Given the description of an element on the screen output the (x, y) to click on. 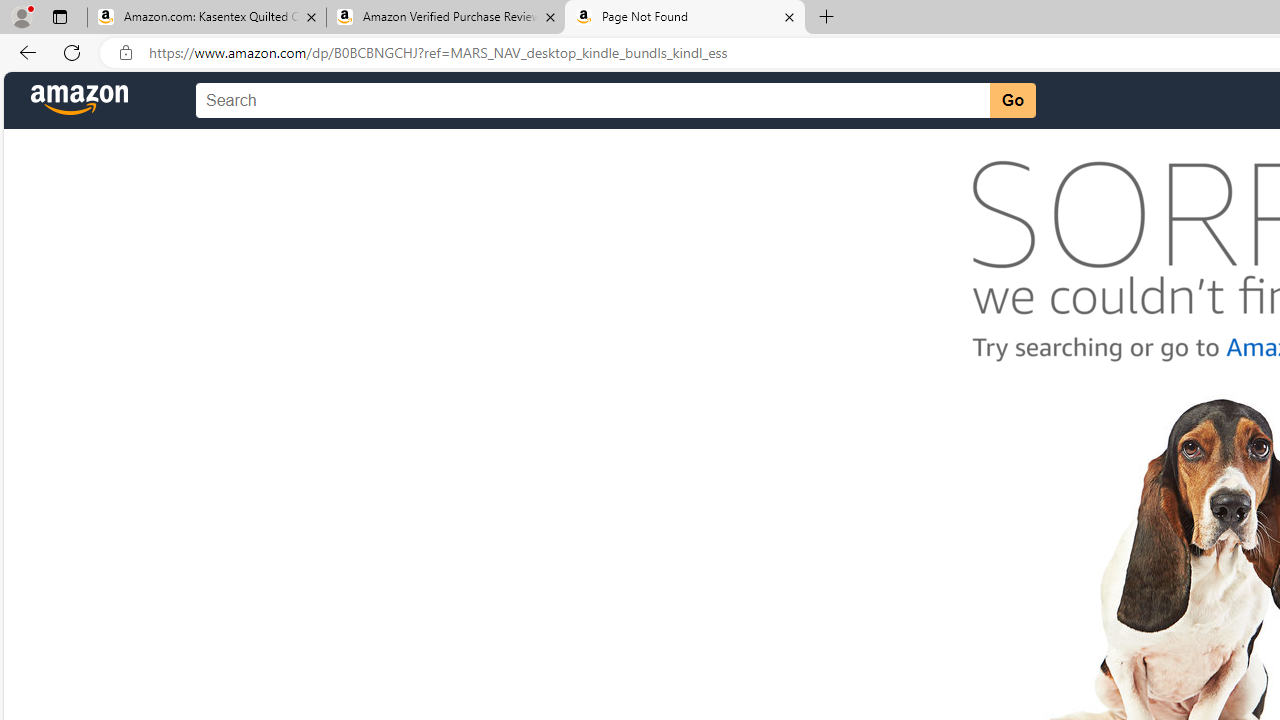
Page Not Found (684, 17)
Amazon (80, 101)
Amazon Verified Purchase Reviews - Amazon Customer Service (445, 17)
Amazon (80, 101)
Go (1012, 100)
